Given the description of an element on the screen output the (x, y) to click on. 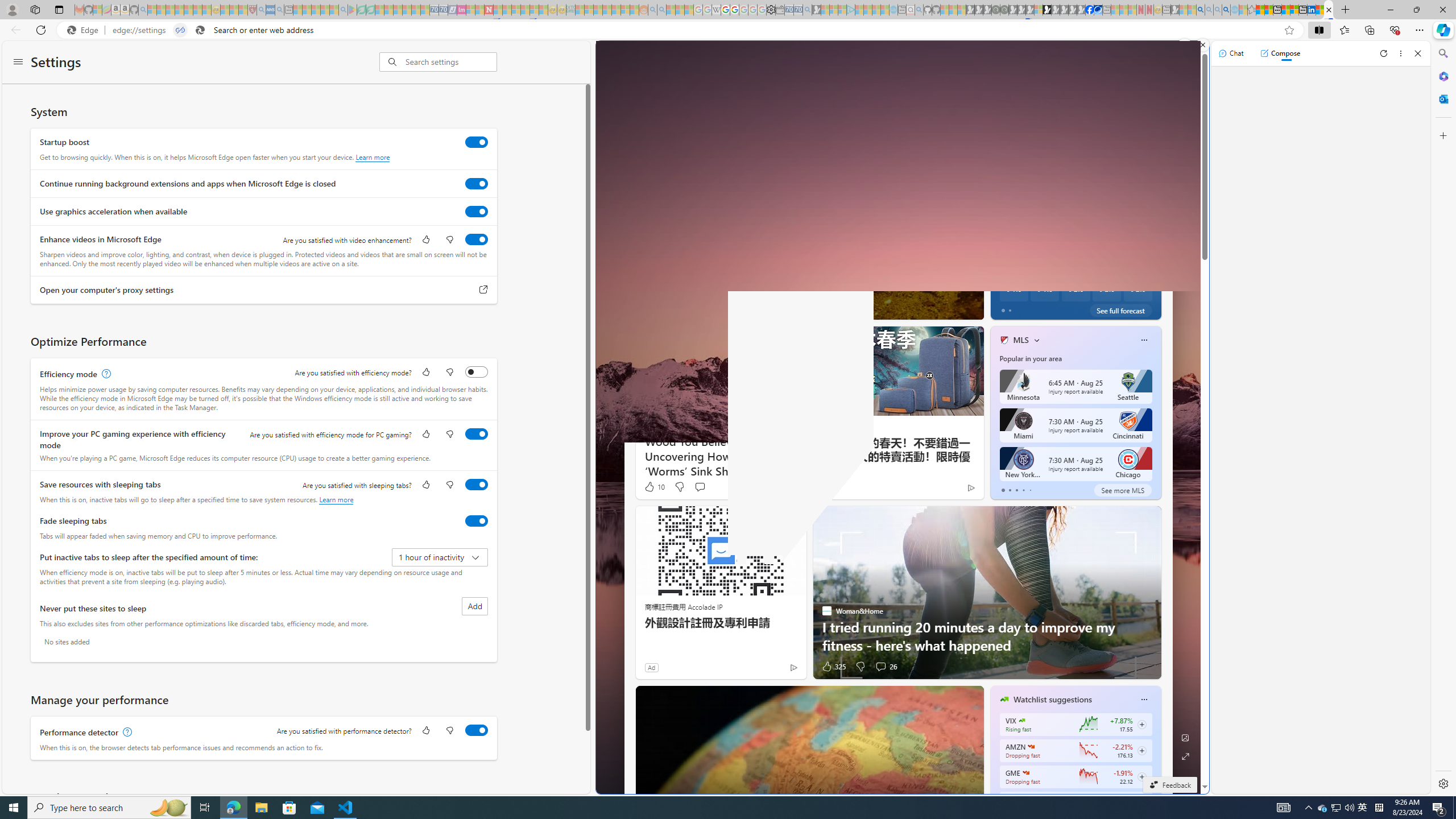
Class: weather-arrow-glyph (1149, 189)
Use graphics acceleration when available (476, 211)
Creatures Found at the Bottom of the Mississippi River (810, 278)
My location (1042, 160)
Partly sunny (1011, 189)
View comments 6 Comment (1051, 307)
